Given the description of an element on the screen output the (x, y) to click on. 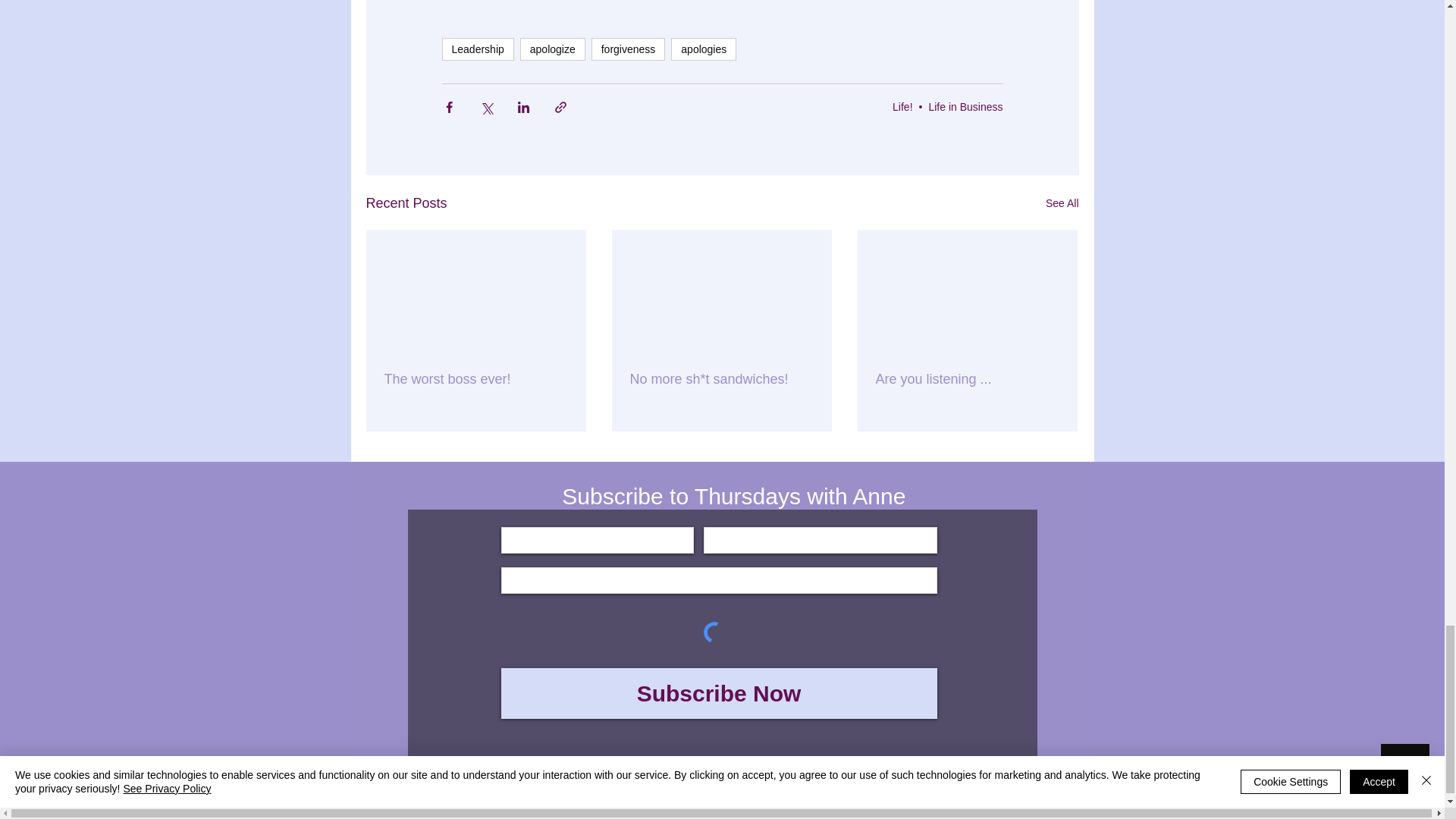
Privacy Policy (717, 810)
Subscribe Now (718, 693)
forgiveness (628, 48)
Are you listening ... (966, 379)
Life! (902, 105)
See All (1061, 203)
apologize (552, 48)
Life in Business (965, 105)
apologies (703, 48)
Leadership (477, 48)
